Given the description of an element on the screen output the (x, y) to click on. 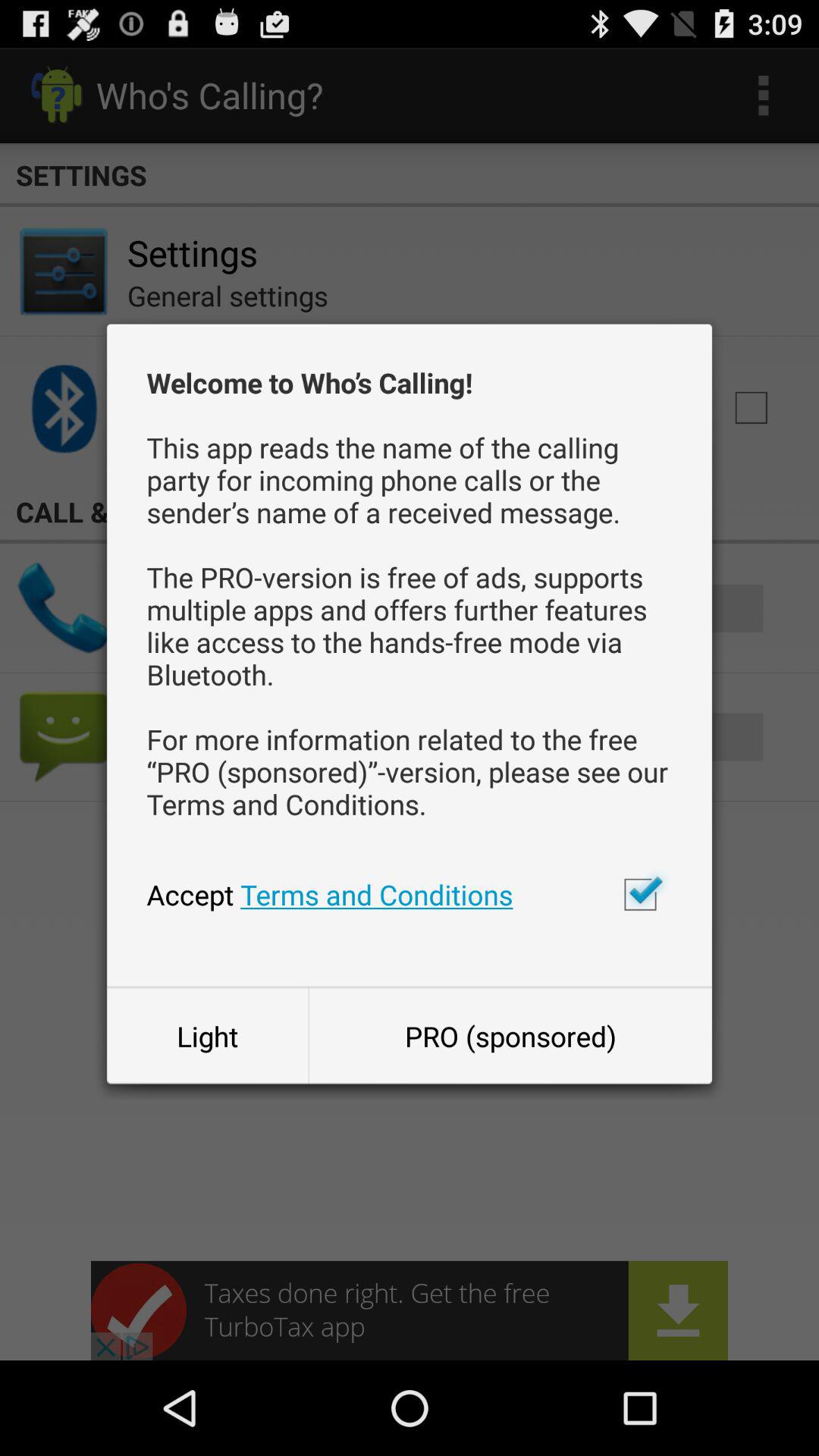
press the item to the right of the light button (510, 1036)
